Given the description of an element on the screen output the (x, y) to click on. 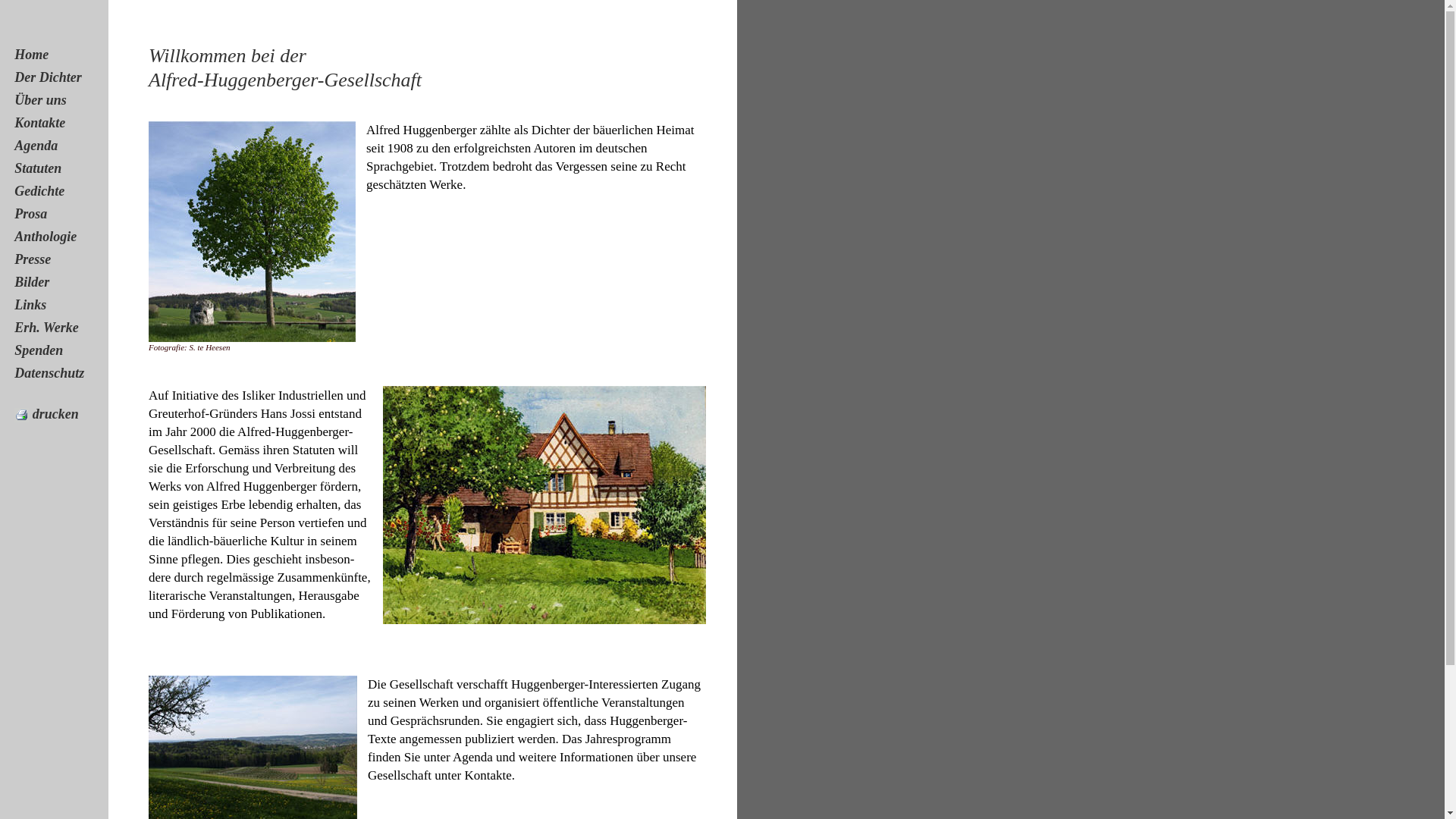
Home Element type: text (31, 54)
Prosa Element type: text (30, 213)
Der Dichter Element type: text (47, 76)
Links Element type: text (30, 304)
Statuten Element type: text (37, 167)
Erh. Werke Element type: text (46, 327)
Presse Element type: text (32, 258)
Datenschutz Element type: text (49, 372)
Agenda Element type: text (35, 145)
 drucken Element type: text (46, 413)
Anthologie Element type: text (45, 236)
Spenden Element type: text (38, 349)
Gedichte Element type: text (39, 190)
Kontakte Element type: text (39, 122)
Bilder Element type: text (31, 281)
